Given the description of an element on the screen output the (x, y) to click on. 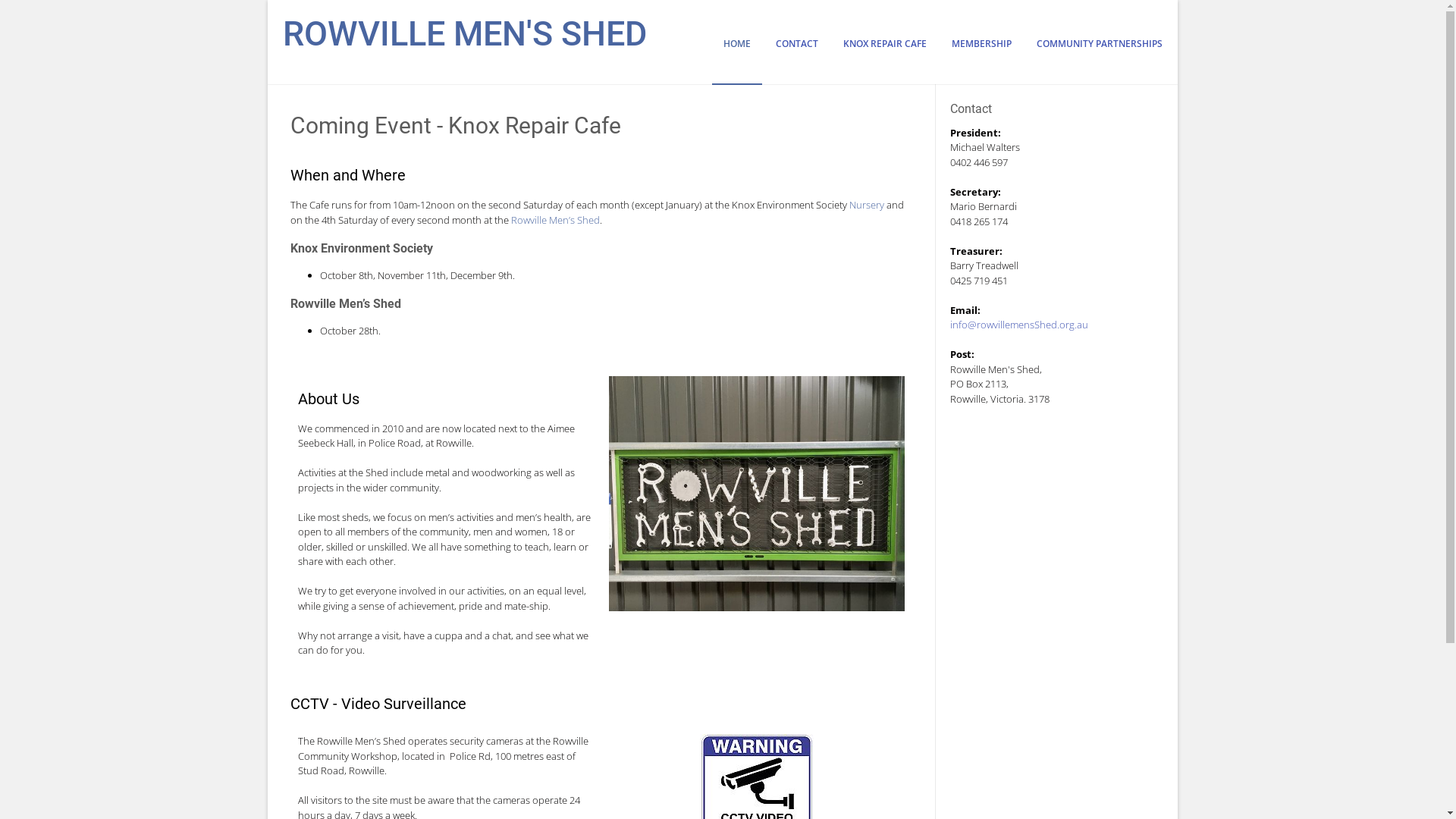
ROWVILLE MEN'S SHED Element type: text (464, 25)
COMMUNITY PARTNERSHIPS Element type: text (1093, 54)
info@rowvillemensShed.org.au Element type: text (1019, 324)
Nursery Element type: text (866, 204)
CONTACT Element type: text (796, 54)
KNOX REPAIR CAFE Element type: text (884, 54)
MEMBERSHIP Element type: text (981, 54)
HOME Element type: text (736, 54)
